Given the description of an element on the screen output the (x, y) to click on. 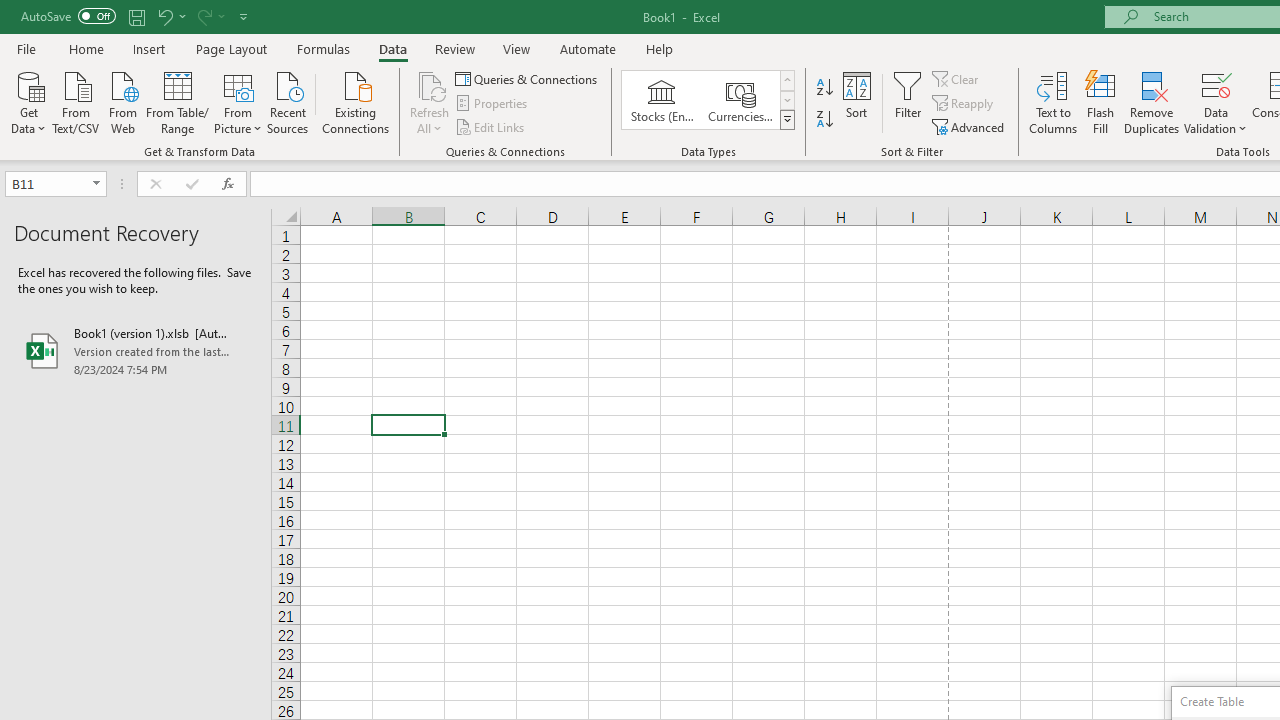
Flash Fill (1101, 102)
Row up (786, 79)
Remove Duplicates (1151, 102)
Home (86, 48)
Quick Access Toolbar (136, 16)
Book1 (version 1).xlsb  [AutoRecovered] (136, 350)
Recent Sources (287, 101)
Review (454, 48)
AutomationID: ConvertToLinkedEntity (708, 99)
Get Data (28, 101)
Filter (908, 102)
Currencies (English) (740, 100)
Data Types (786, 120)
